Given the description of an element on the screen output the (x, y) to click on. 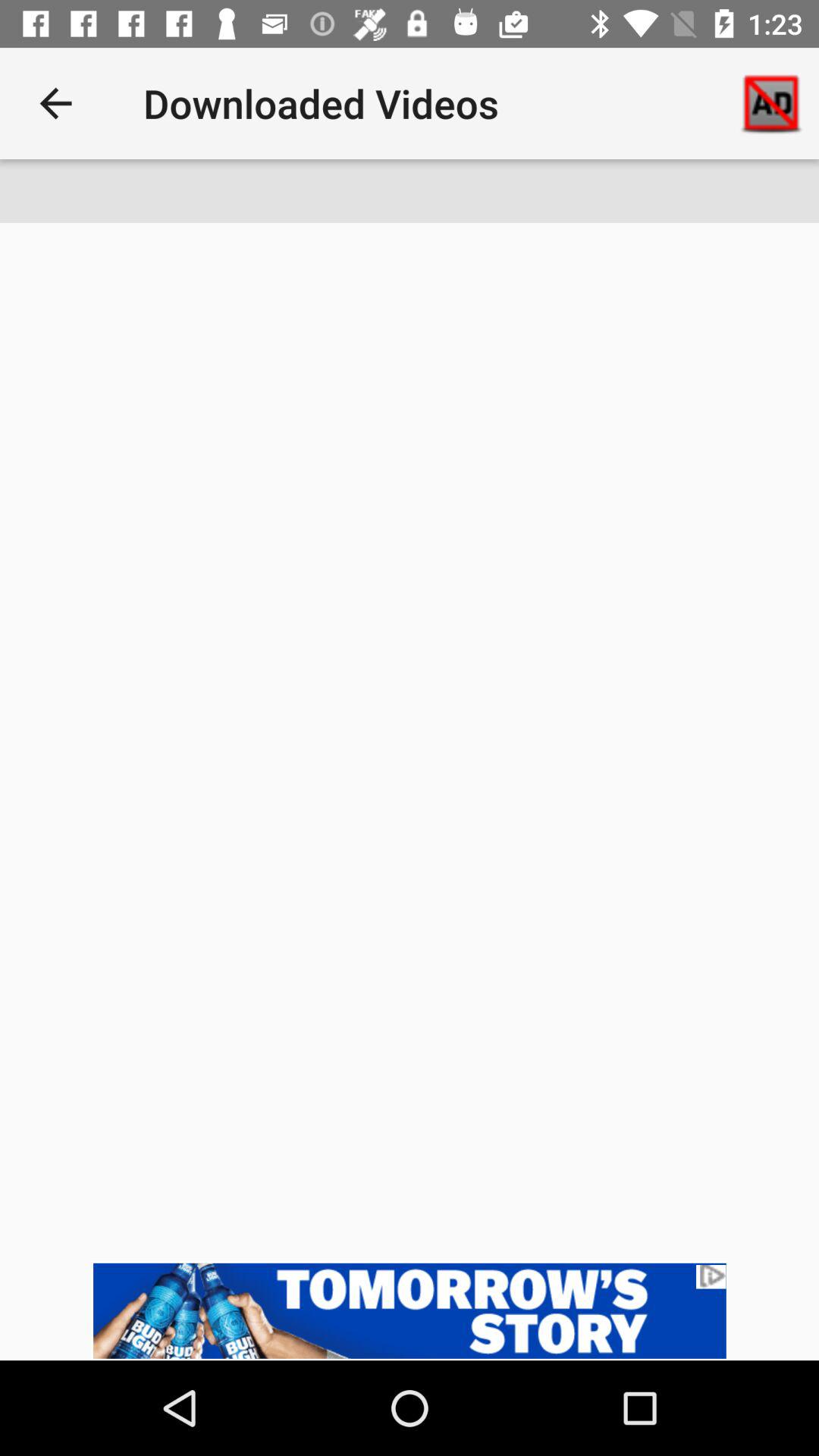
go to advertisement (409, 1310)
